Given the description of an element on the screen output the (x, y) to click on. 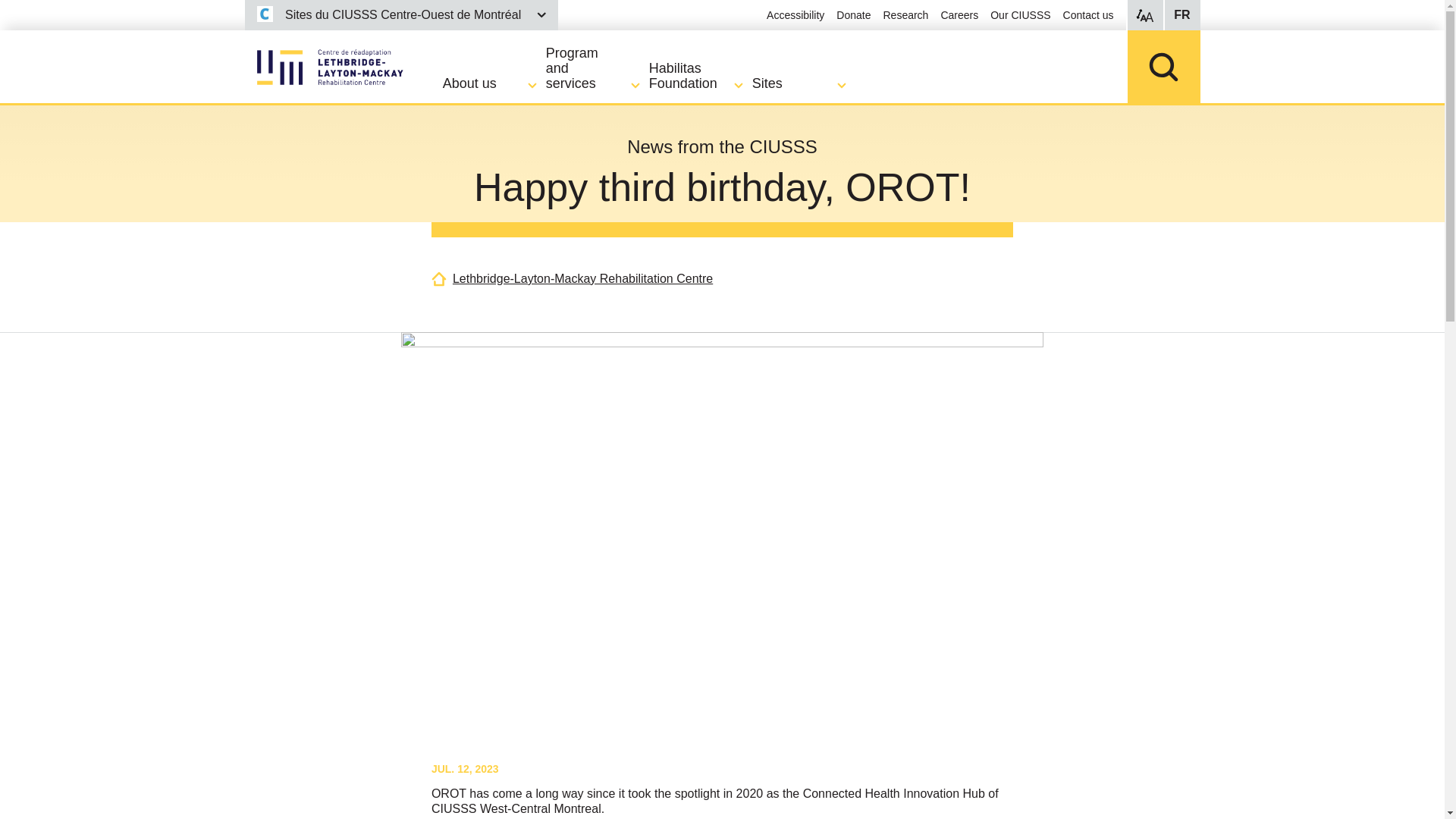
About us (494, 83)
FR (1181, 15)
